Given the description of an element on the screen output the (x, y) to click on. 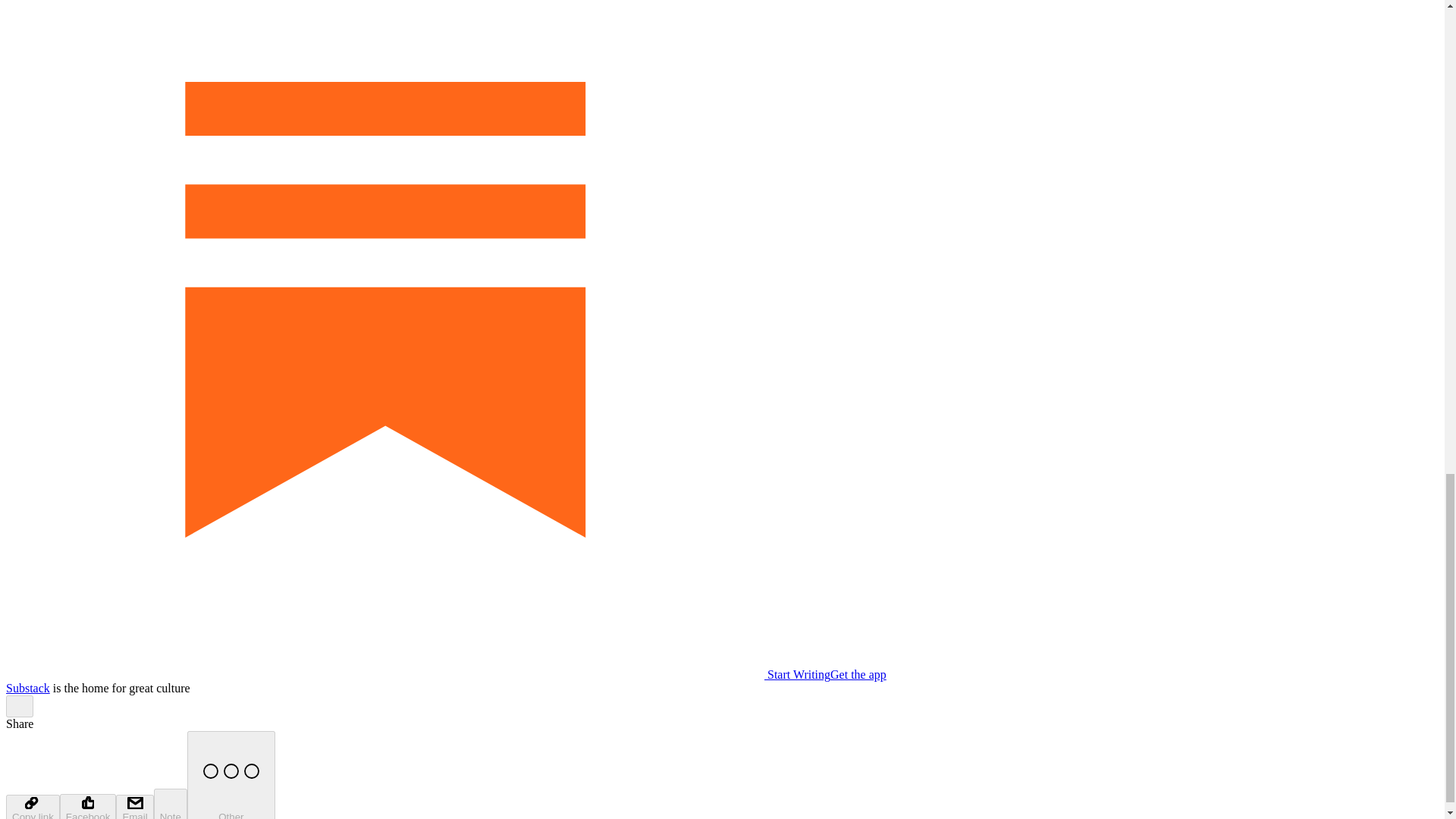
Substack (27, 687)
Get the app (857, 674)
Start Writing (417, 674)
